Given the description of an element on the screen output the (x, y) to click on. 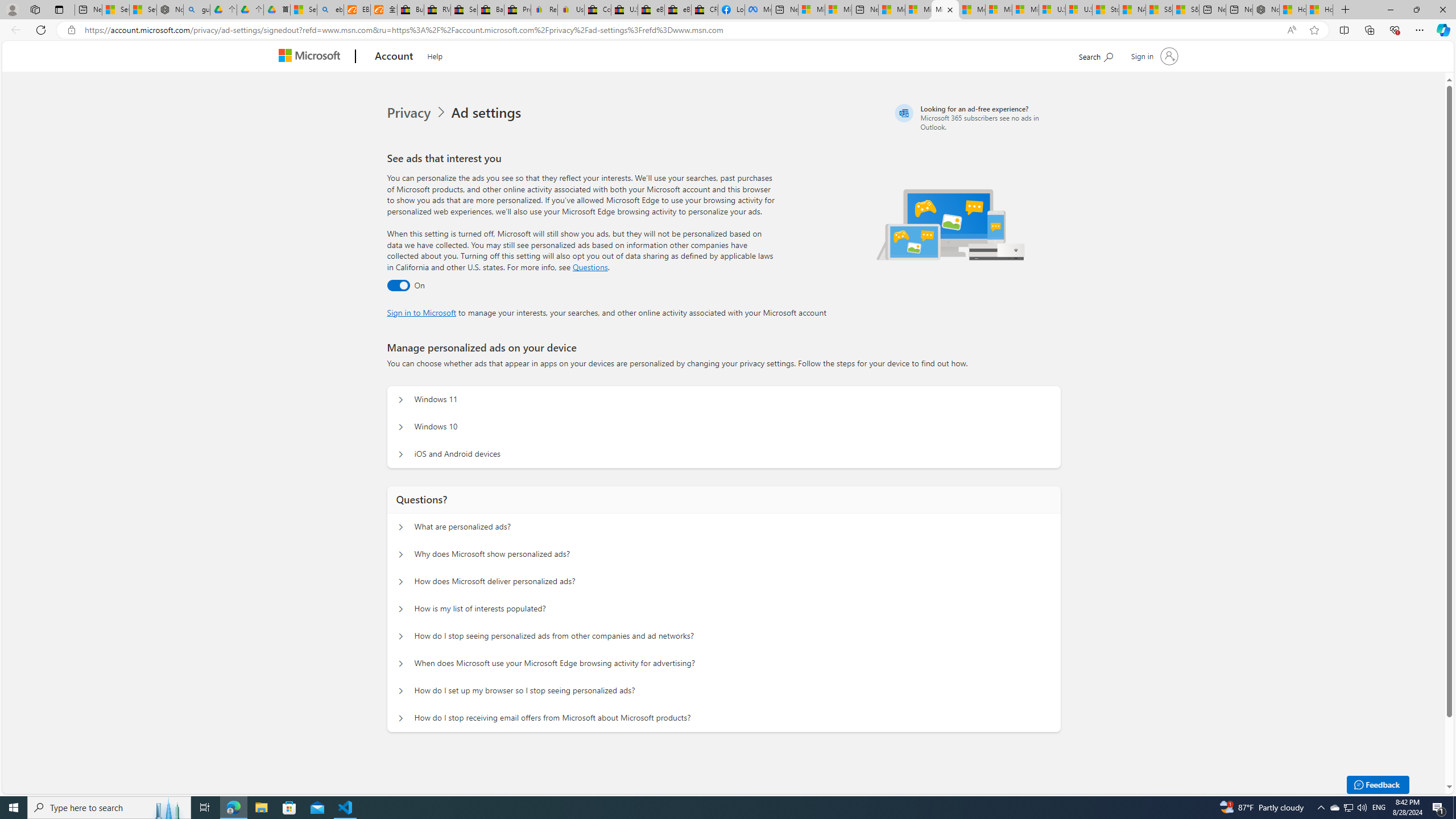
Privacy (410, 112)
Log into Facebook (731, 9)
Privacy (418, 112)
